Given the description of an element on the screen output the (x, y) to click on. 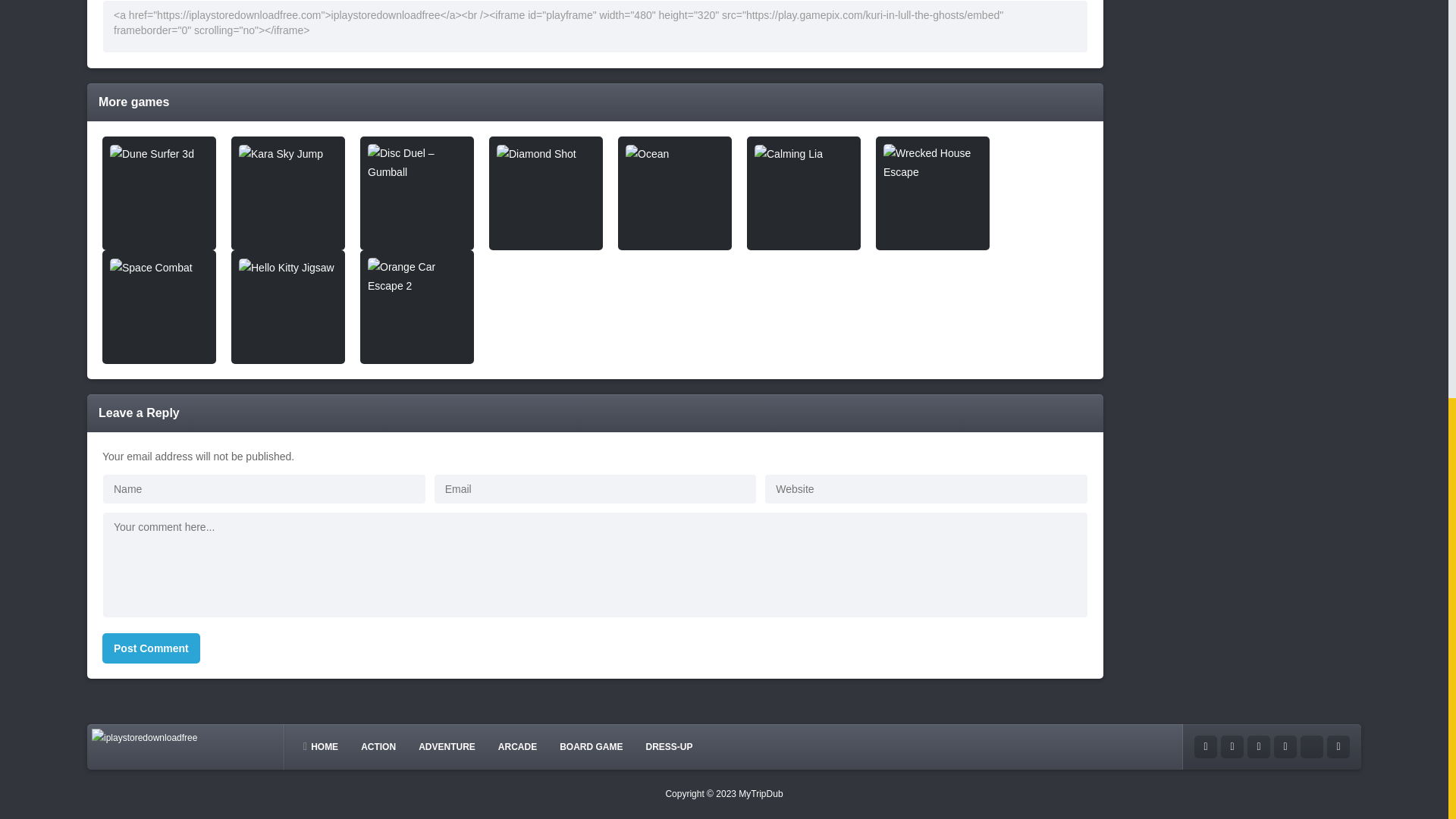
Post Comment (150, 648)
